Given the description of an element on the screen output the (x, y) to click on. 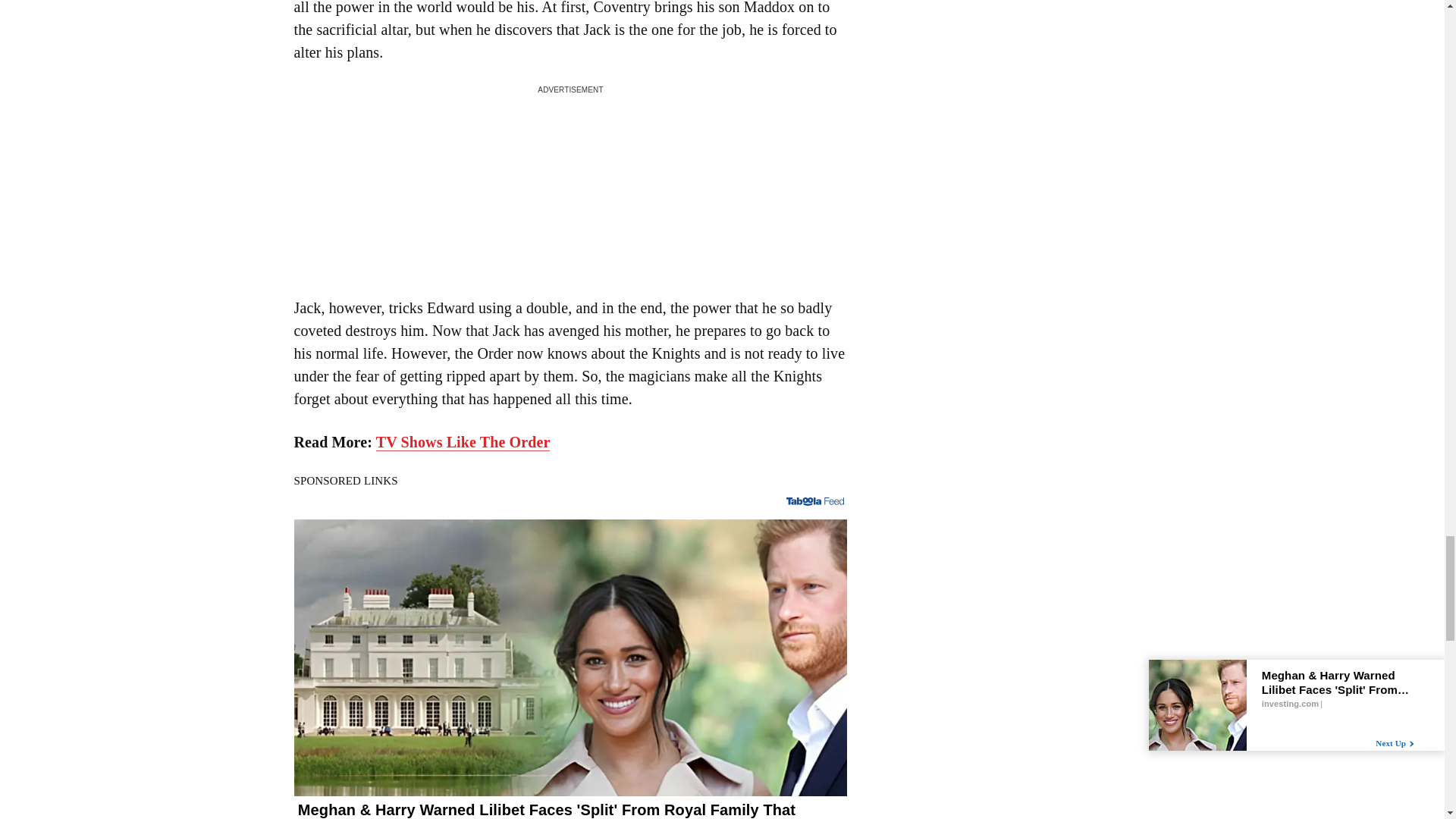
TV Shows Like The Order (462, 442)
